Given the description of an element on the screen output the (x, y) to click on. 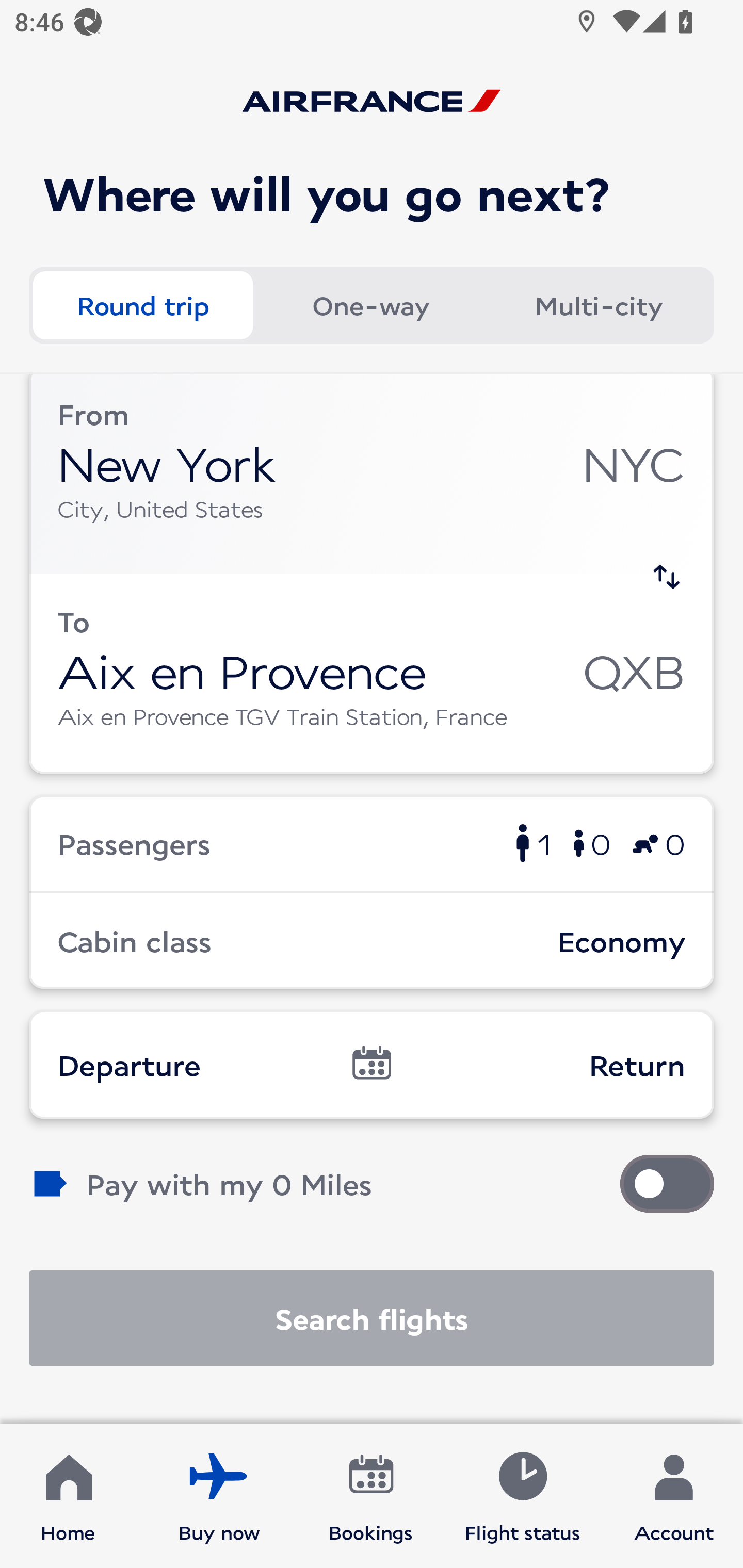
Round trip (142, 304)
One-way (370, 304)
Multi-city (598, 304)
From New York NYC City, United States (371, 473)
Passengers 1 0 0 (371, 842)
Cabin class Economy (371, 941)
Departure Return (371, 1063)
Search flights (371, 1317)
Home (68, 1495)
Bookings (370, 1495)
Flight status (522, 1495)
Account (674, 1495)
